Given the description of an element on the screen output the (x, y) to click on. 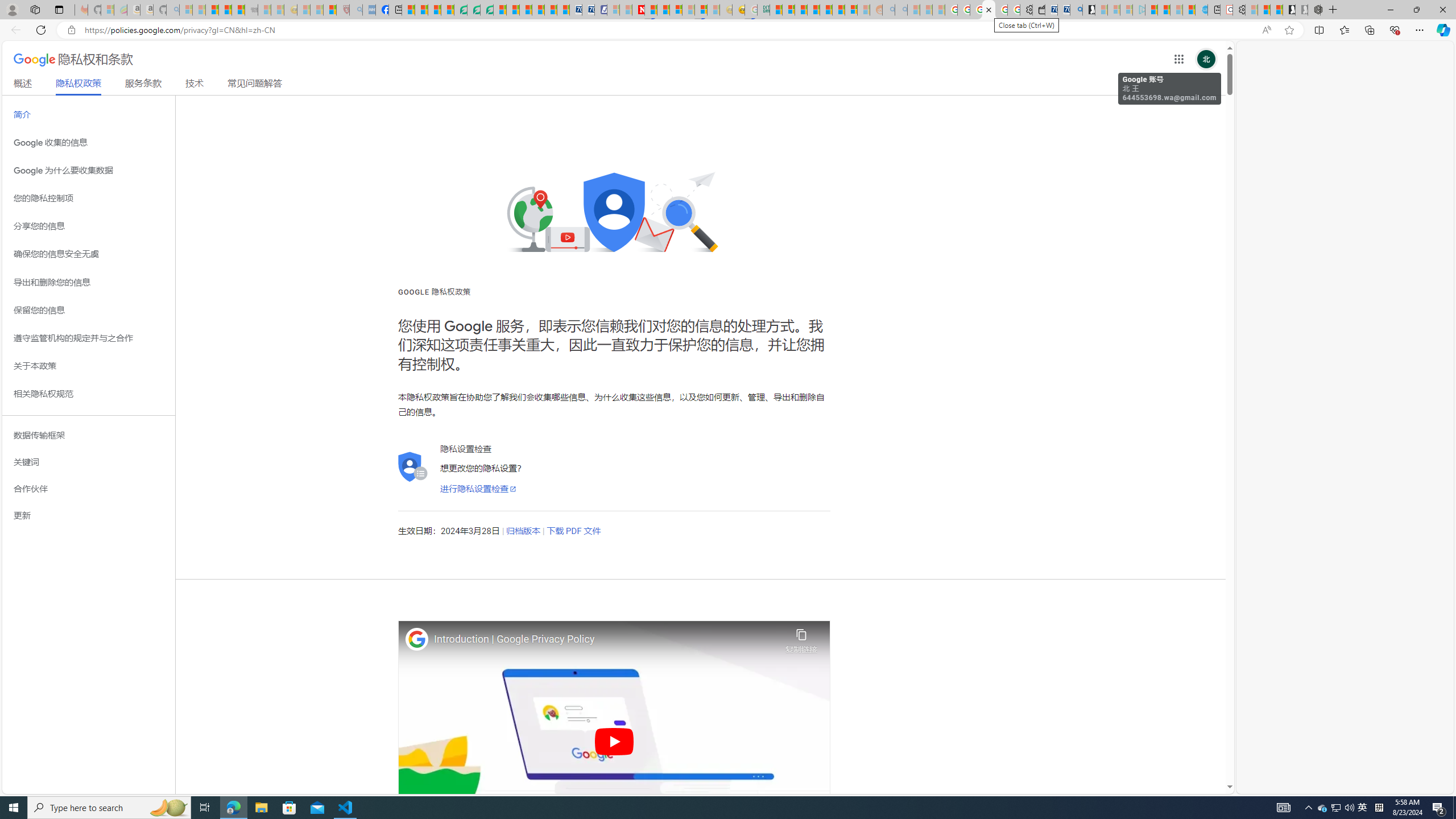
Local - MSN (329, 9)
